Given the description of an element on the screen output the (x, y) to click on. 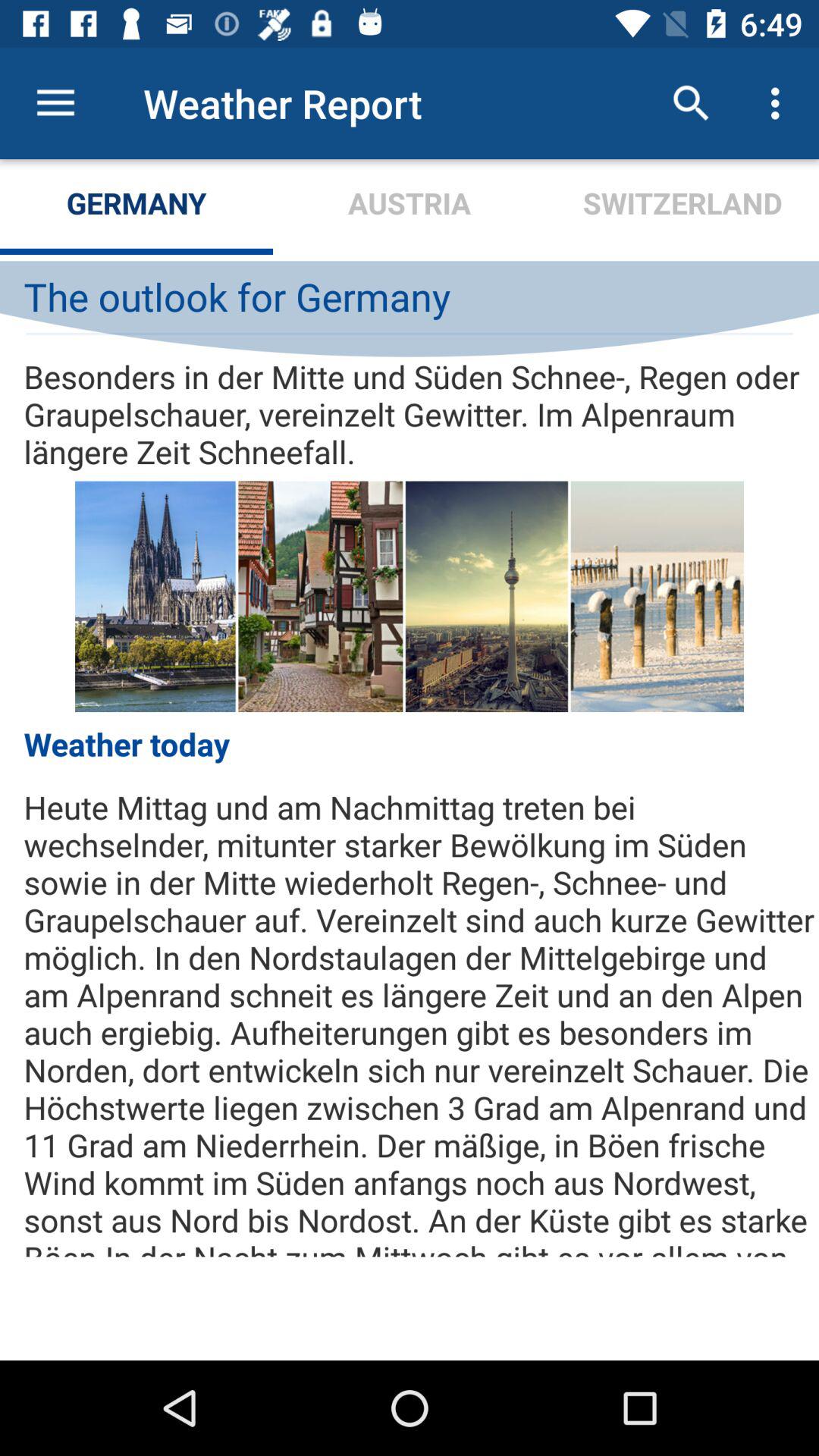
click the item above germany item (55, 103)
